Given the description of an element on the screen output the (x, y) to click on. 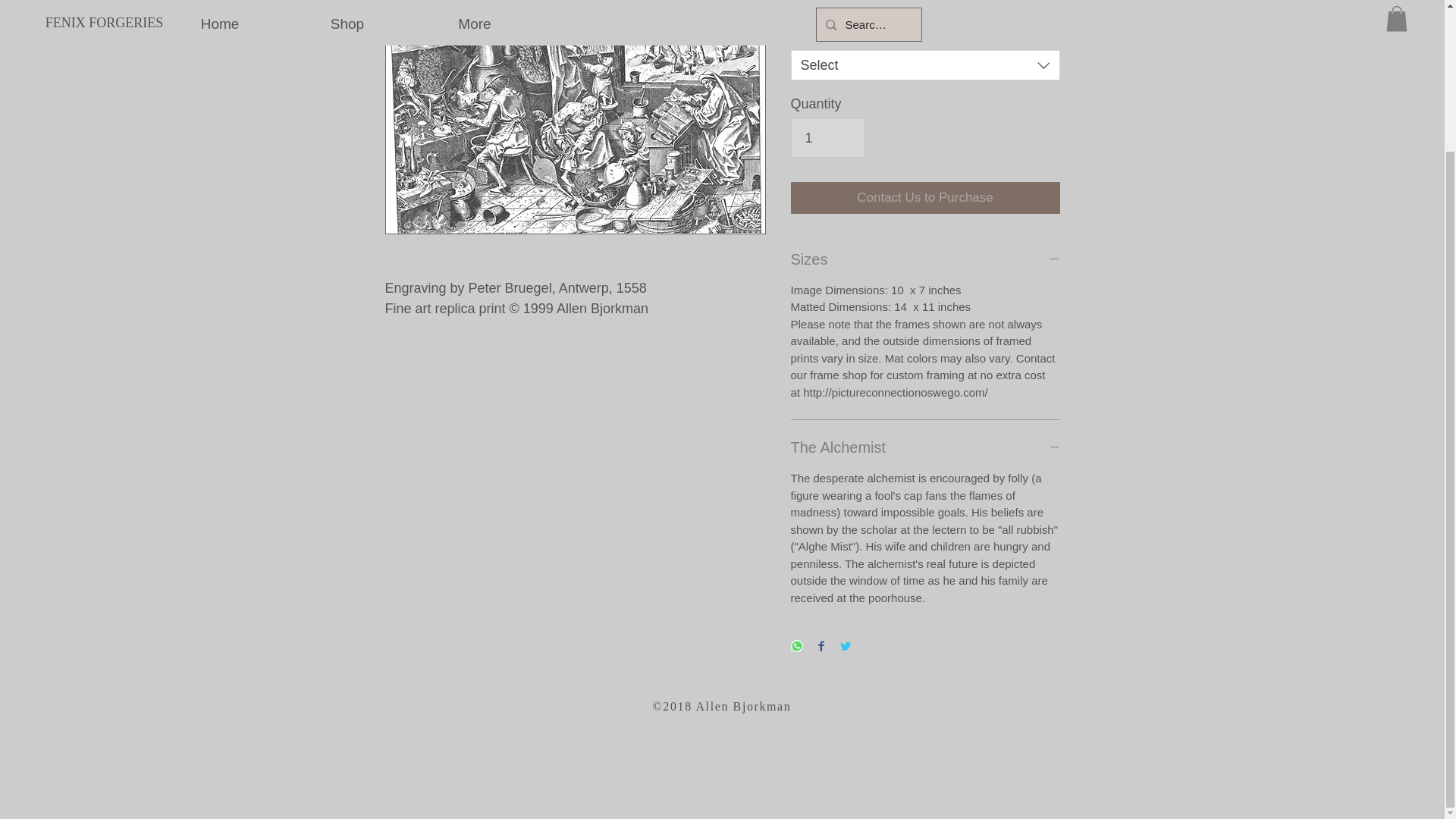
Sizes (924, 259)
Select (924, 64)
The Alchemist (924, 447)
1 (827, 137)
Contact Us to Purchase (924, 197)
